Given the description of an element on the screen output the (x, y) to click on. 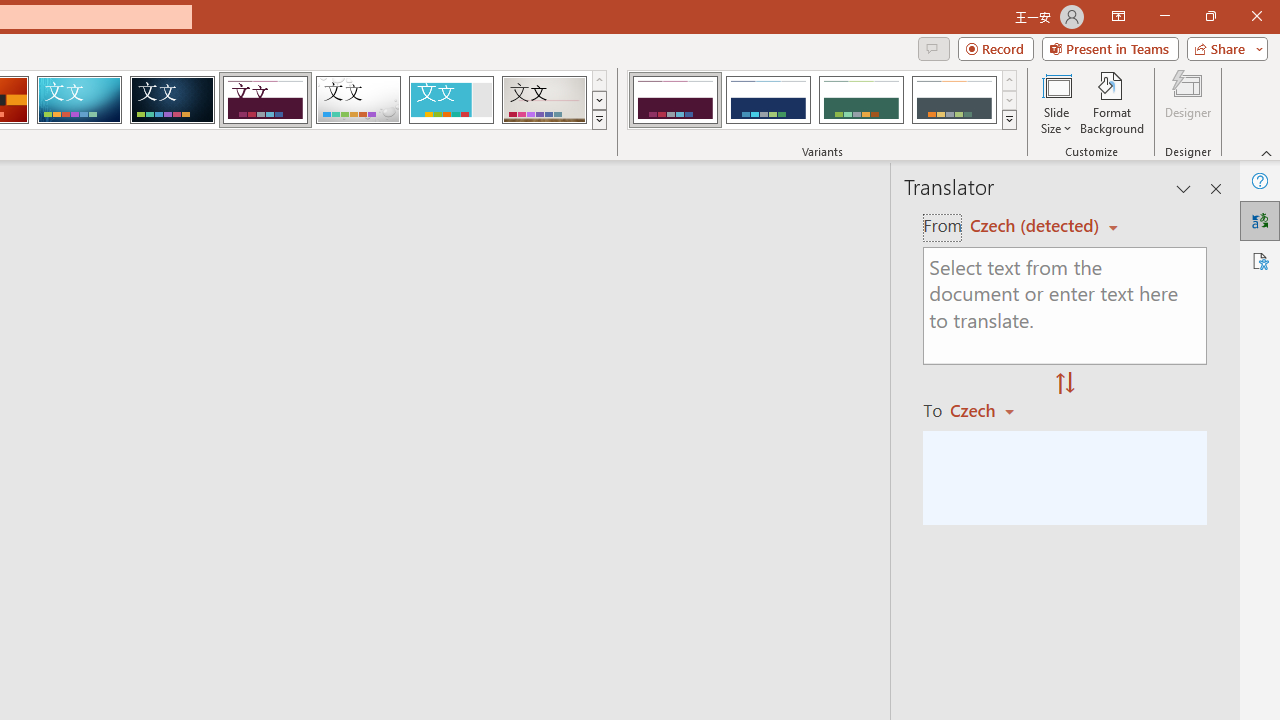
Format Background (1111, 102)
AutomationID: ThemeVariantsGallery (822, 99)
Dividend Variant 4 (953, 100)
Swap "from" and "to" languages. (1065, 383)
Droplet (358, 100)
Circuit (79, 100)
Dividend Variant 2 (768, 100)
